Given the description of an element on the screen output the (x, y) to click on. 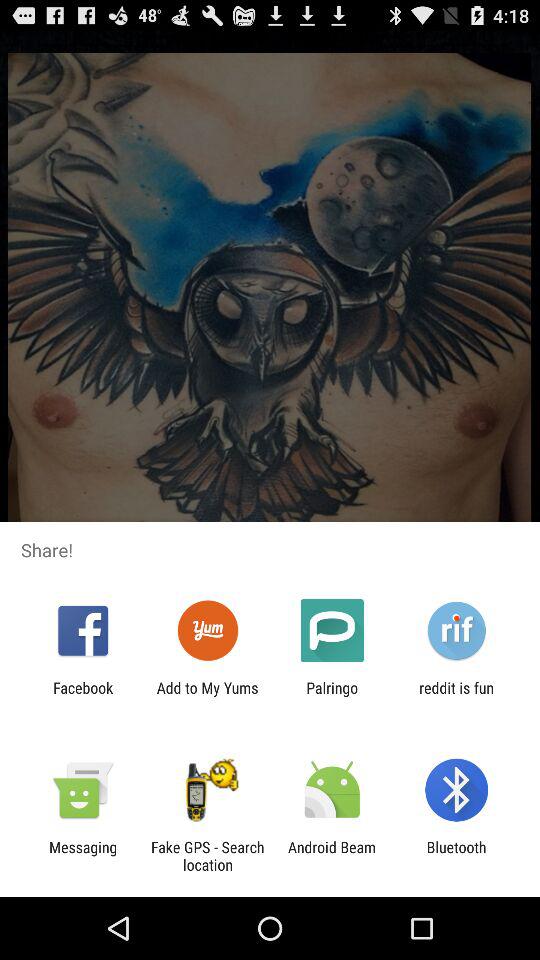
click the app next to the add to my app (332, 696)
